Given the description of an element on the screen output the (x, y) to click on. 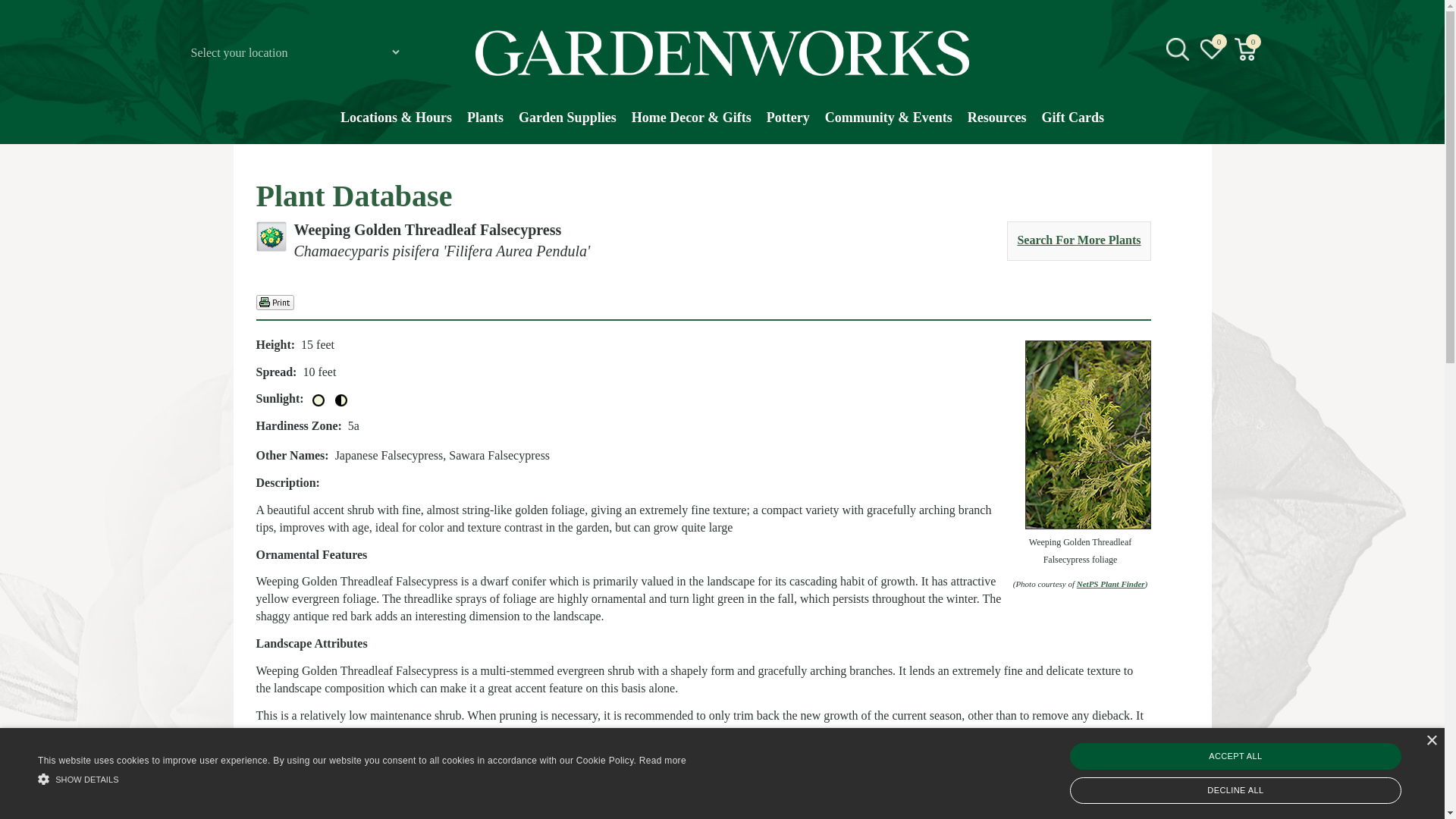
No items in wishlist (1211, 48)
No items in shopping cart (1245, 48)
Plants (485, 125)
Plants (485, 125)
src (1177, 48)
Garden Supplies (566, 125)
Go to the shopping cart (1245, 48)
GARDENWORKS garden centres (722, 53)
Go to the wishlist (1211, 48)
Search (1241, 168)
